Given the description of an element on the screen output the (x, y) to click on. 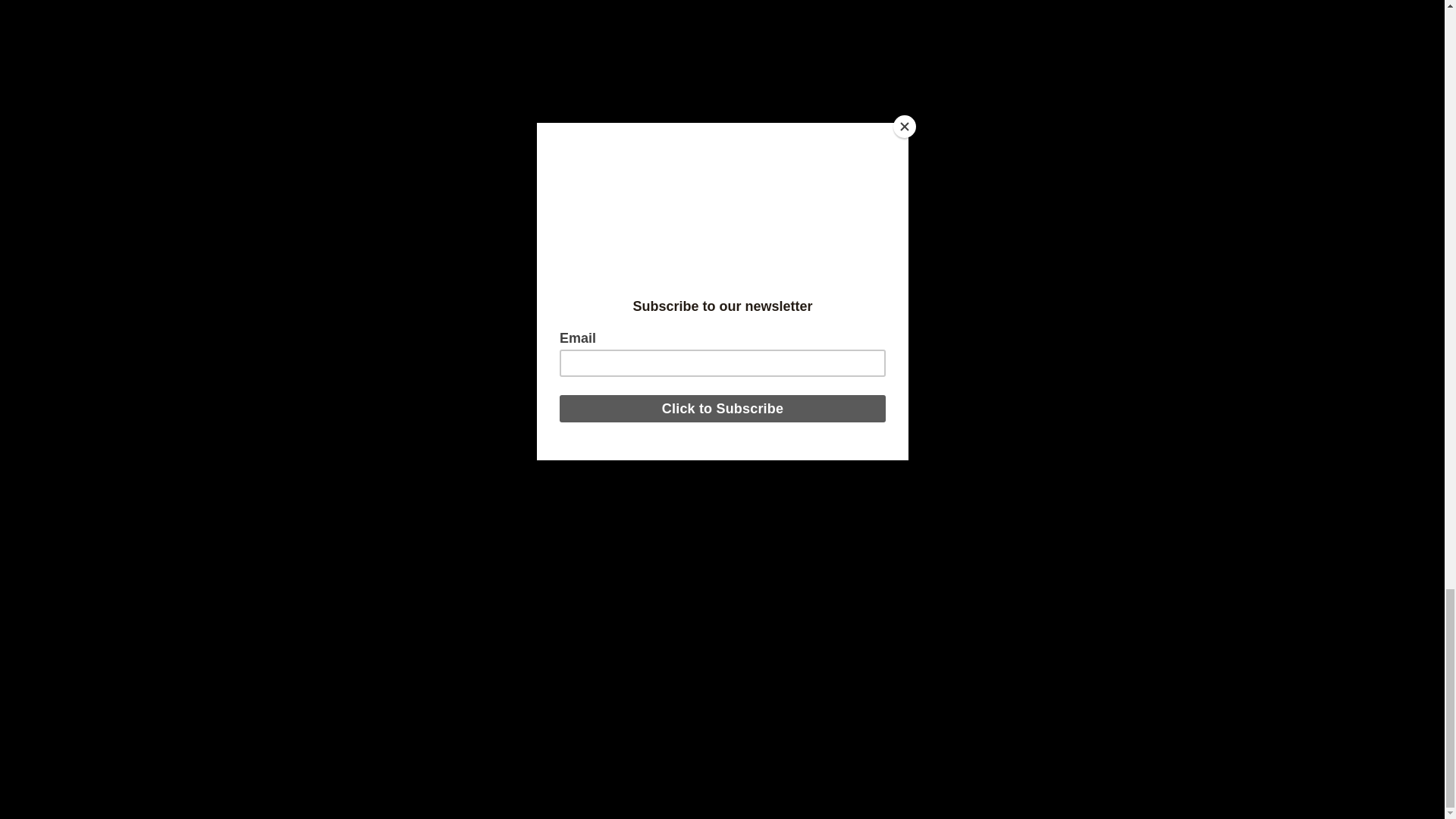
on (939, 521)
Subscribe (1038, 484)
